Given the description of an element on the screen output the (x, y) to click on. 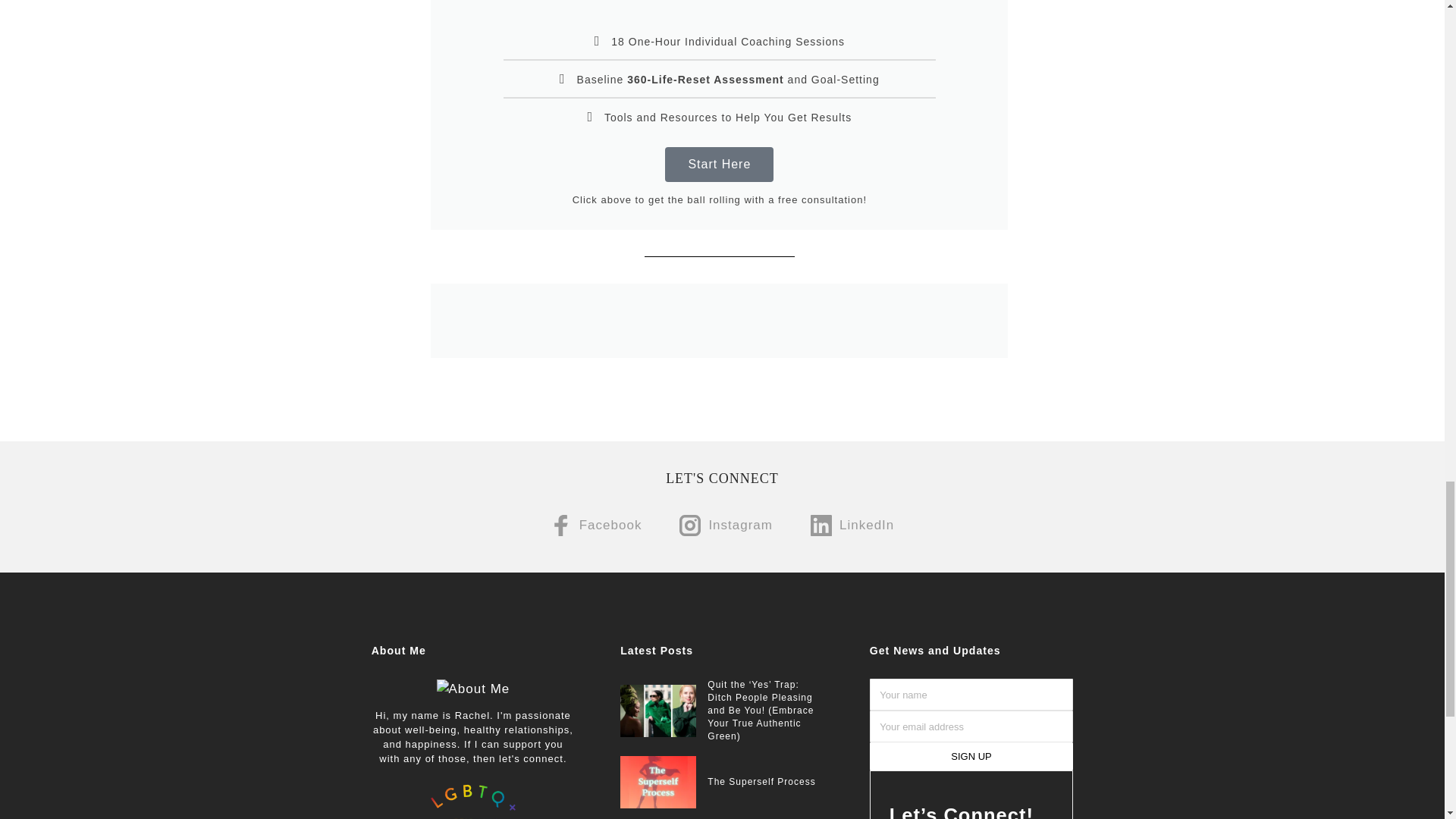
The Superself Process (761, 781)
Sign up (971, 756)
Facebook (596, 525)
Sign up (971, 756)
Instagram (726, 525)
LinkedIn (851, 525)
Start Here (719, 164)
